Given the description of an element on the screen output the (x, y) to click on. 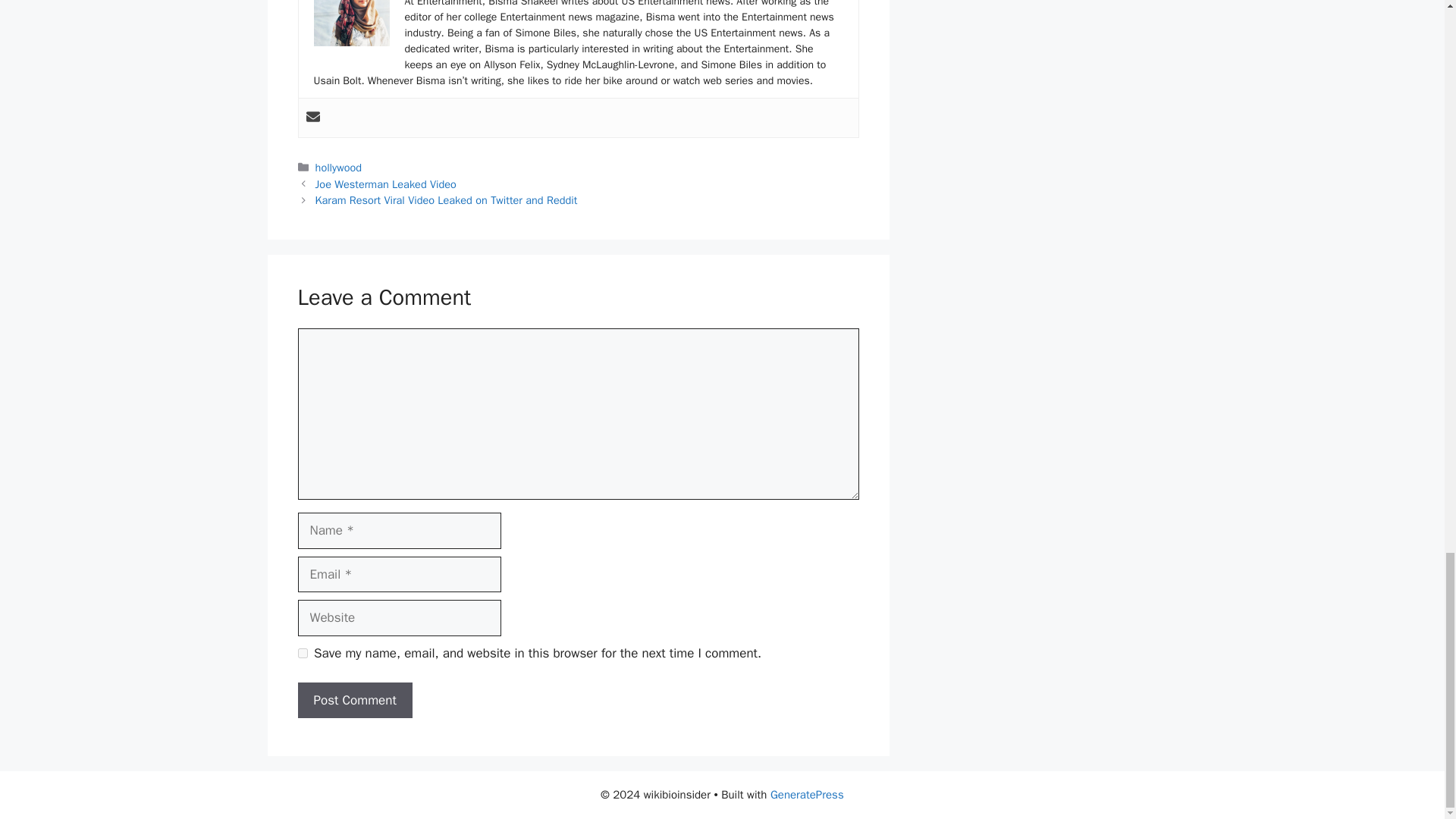
Post Comment (354, 700)
Post Comment (354, 700)
Karam Resort Viral Video Leaked on Twitter and Reddit (446, 200)
hollywood (338, 167)
yes (302, 653)
Joe Westerman Leaked Video (386, 183)
GeneratePress (807, 794)
